Given the description of an element on the screen output the (x, y) to click on. 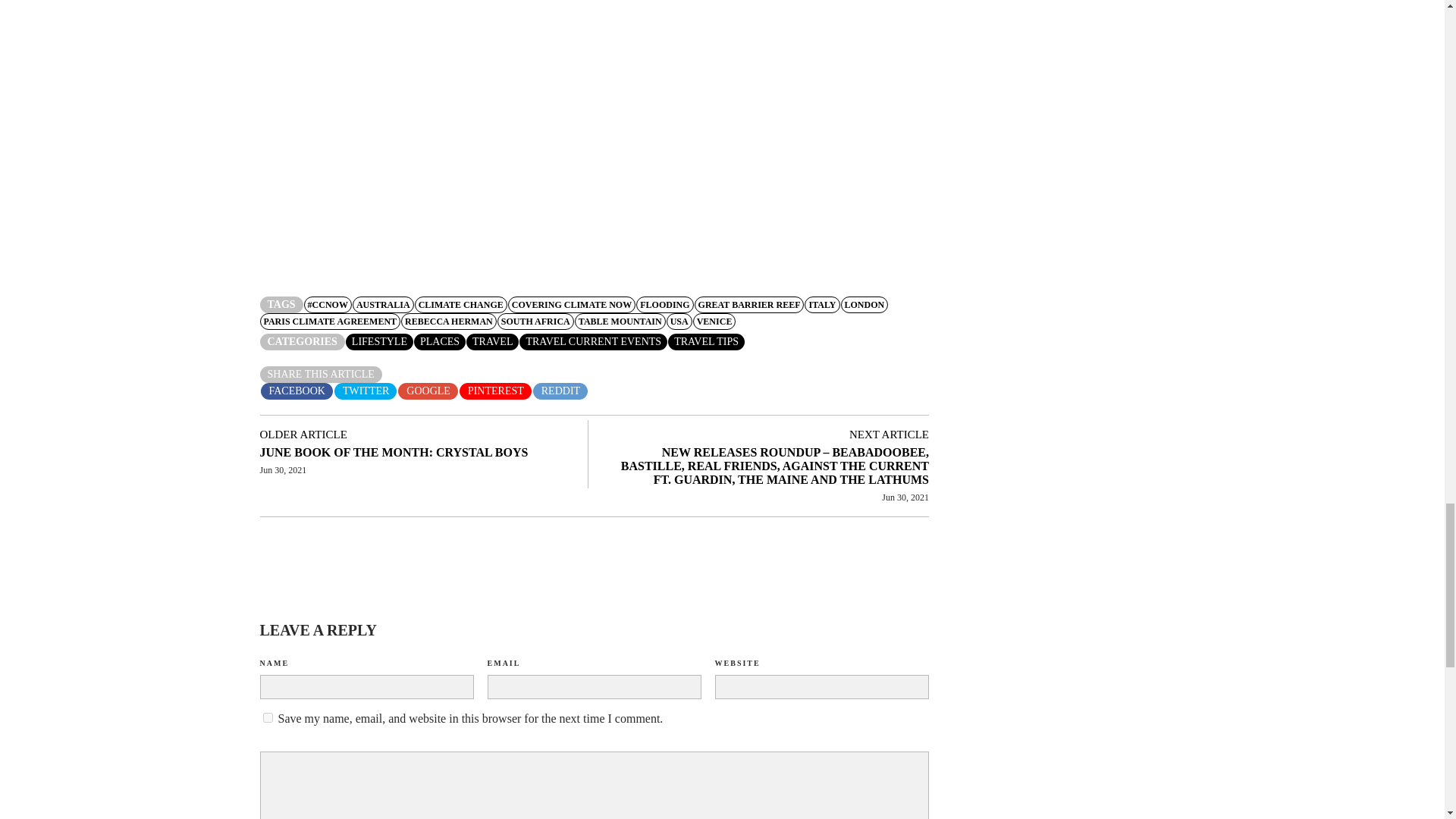
yes (267, 717)
